Given the description of an element on the screen output the (x, y) to click on. 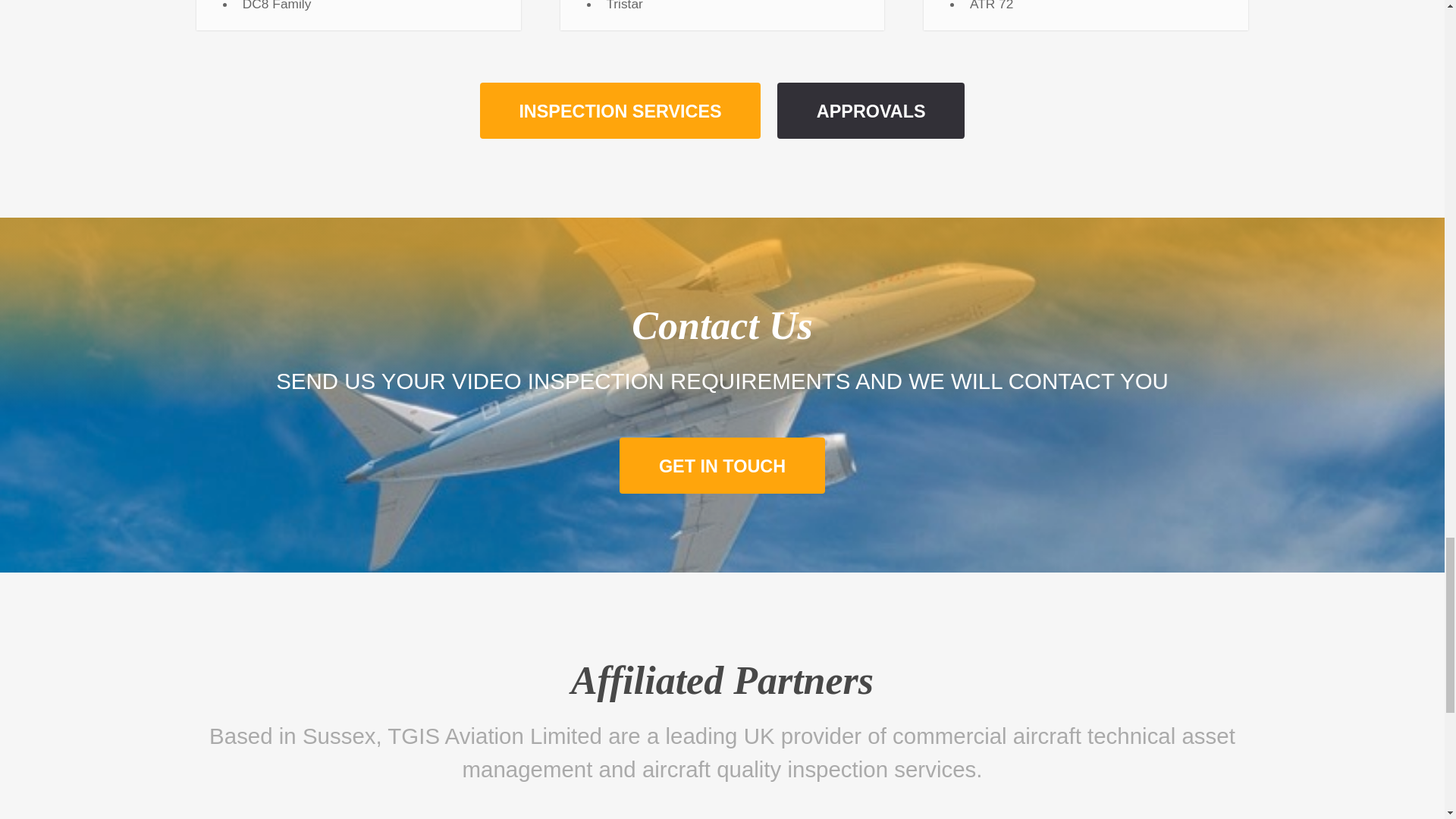
INSPECTION SERVICES (620, 110)
APPROVALS (870, 110)
GET IN TOUCH (722, 465)
